Given the description of an element on the screen output the (x, y) to click on. 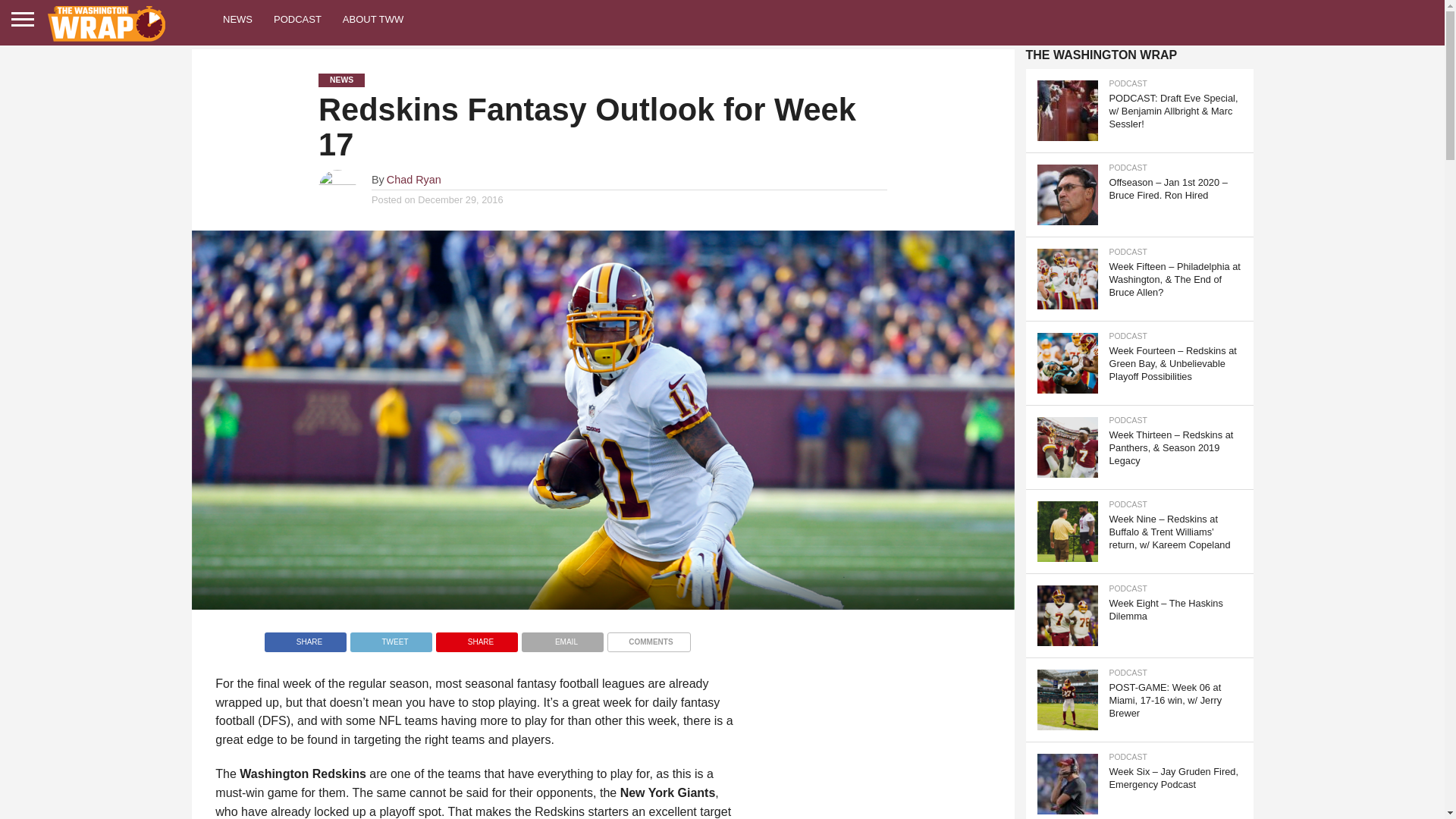
SHARE (305, 637)
ABOUT TWW (372, 18)
Pin This Post (476, 637)
TWEET (390, 637)
Tweet This Post (390, 637)
SHARE (476, 637)
Share on Facebook (305, 637)
NEWS (237, 18)
PODCAST (297, 18)
EMAIL (562, 637)
Chad Ryan (414, 179)
Posts by Chad Ryan (414, 179)
COMMENTS (648, 637)
